Given the description of an element on the screen output the (x, y) to click on. 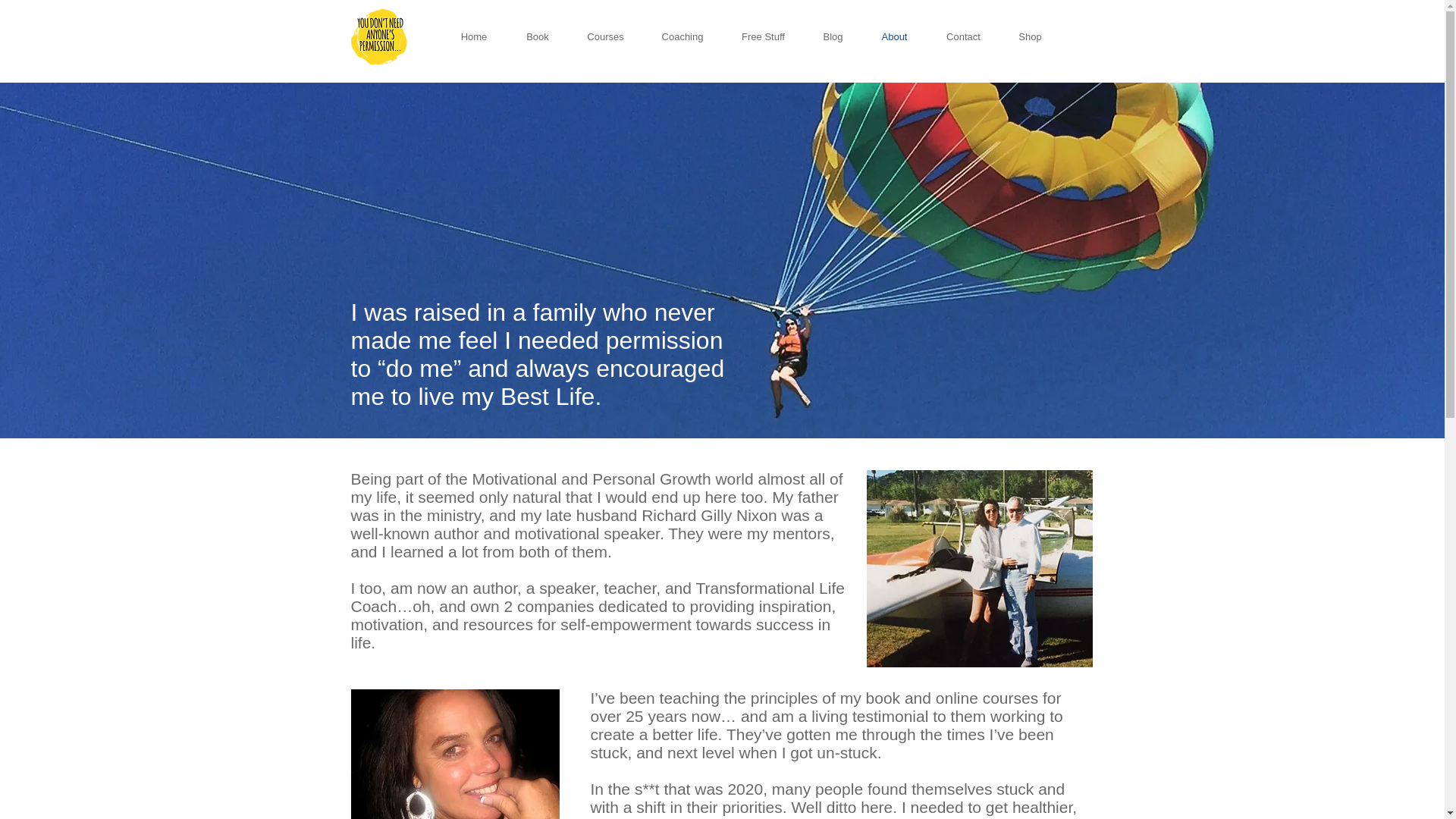
Free Stuff (762, 36)
Courses (606, 36)
Home (473, 36)
Coaching (682, 36)
About (893, 36)
Blog (832, 36)
Contact (962, 36)
Book (536, 36)
Shop (1028, 36)
